Given the description of an element on the screen output the (x, y) to click on. 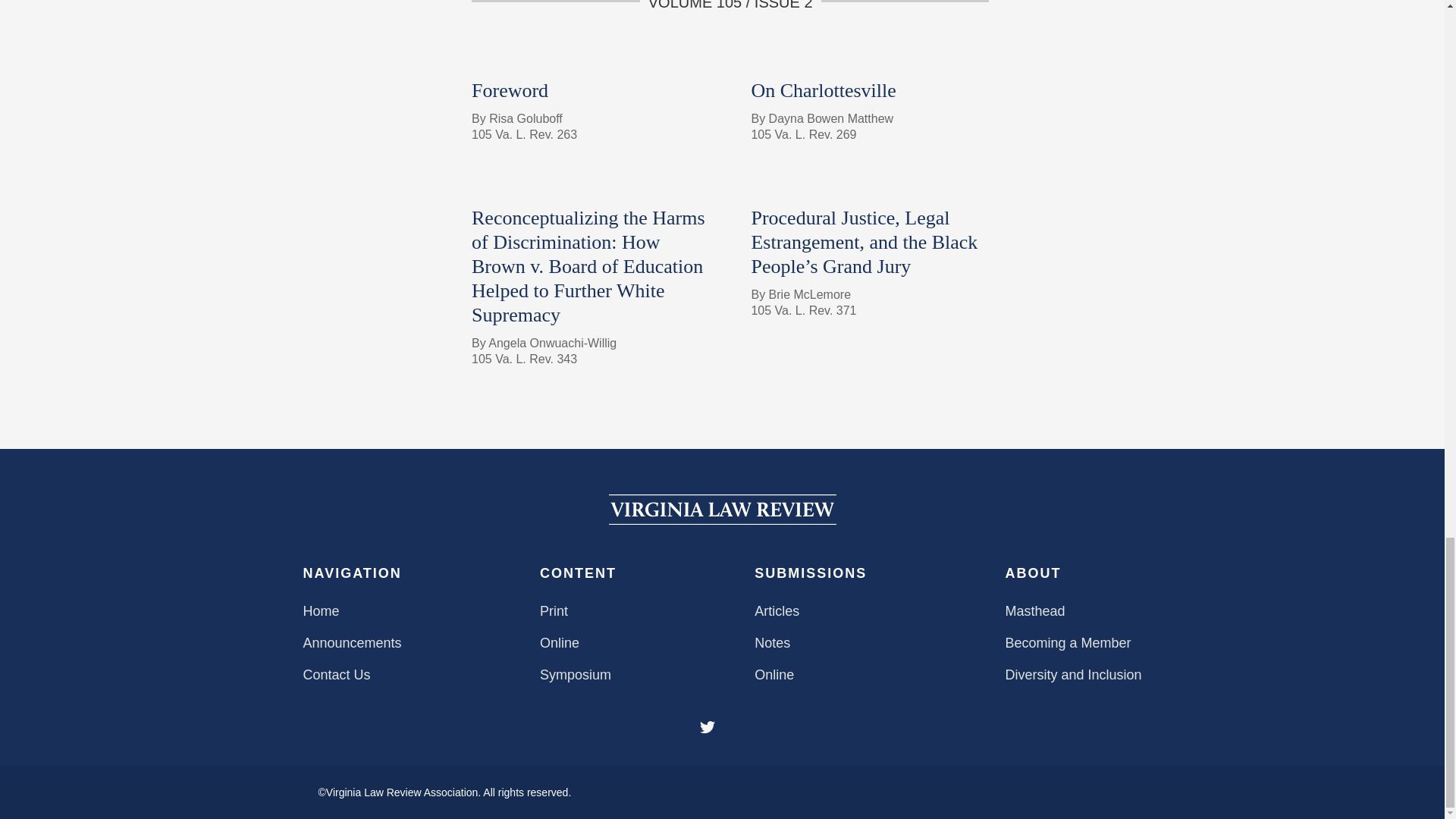
Foreword (509, 90)
On Charlottesville (823, 90)
